Given the description of an element on the screen output the (x, y) to click on. 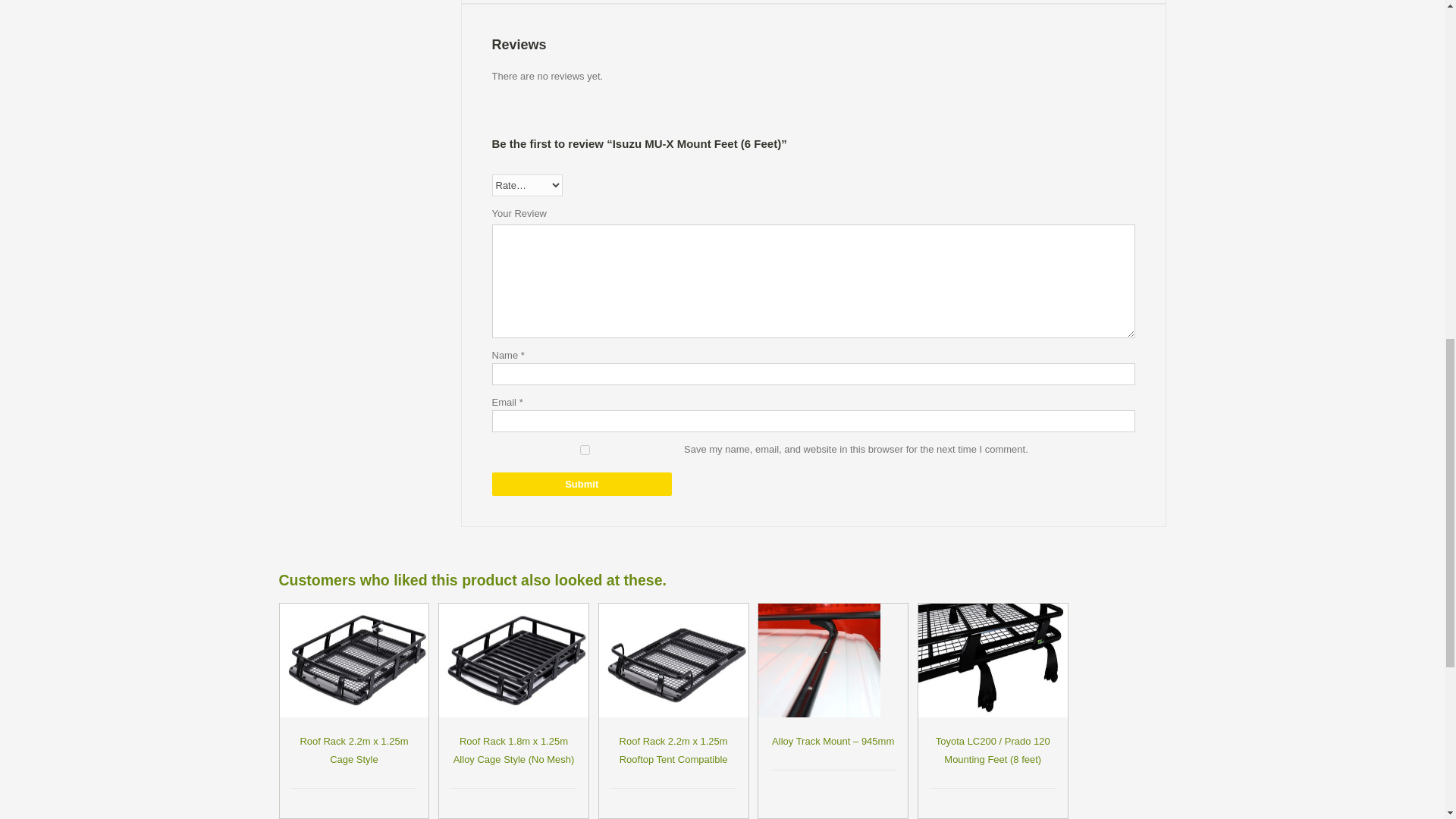
Submit (581, 484)
yes (584, 450)
